Given the description of an element on the screen output the (x, y) to click on. 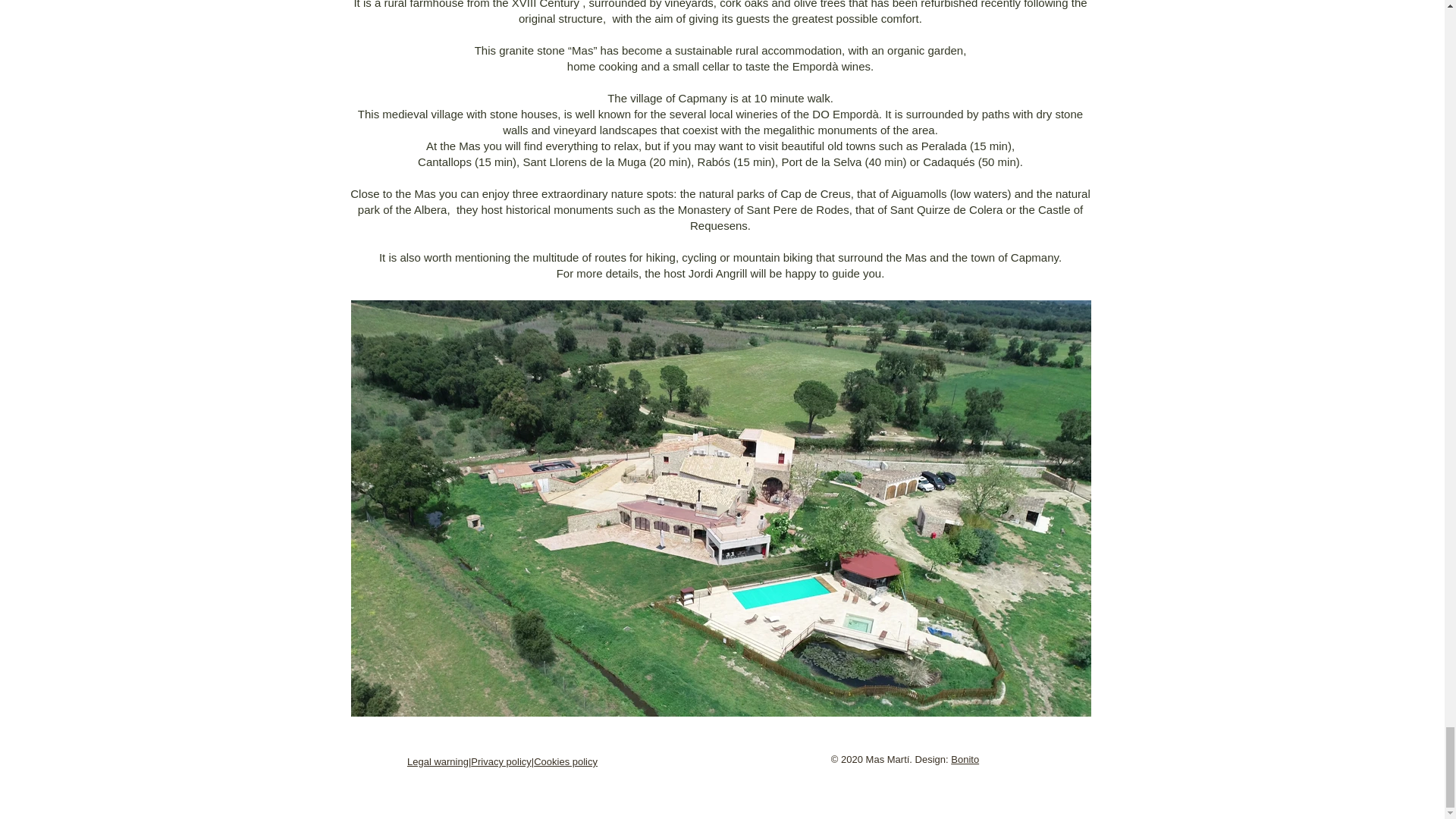
Legal warning (437, 761)
Privacy policy (500, 761)
Bonito (964, 758)
Cookies policy (565, 761)
